Given the description of an element on the screen output the (x, y) to click on. 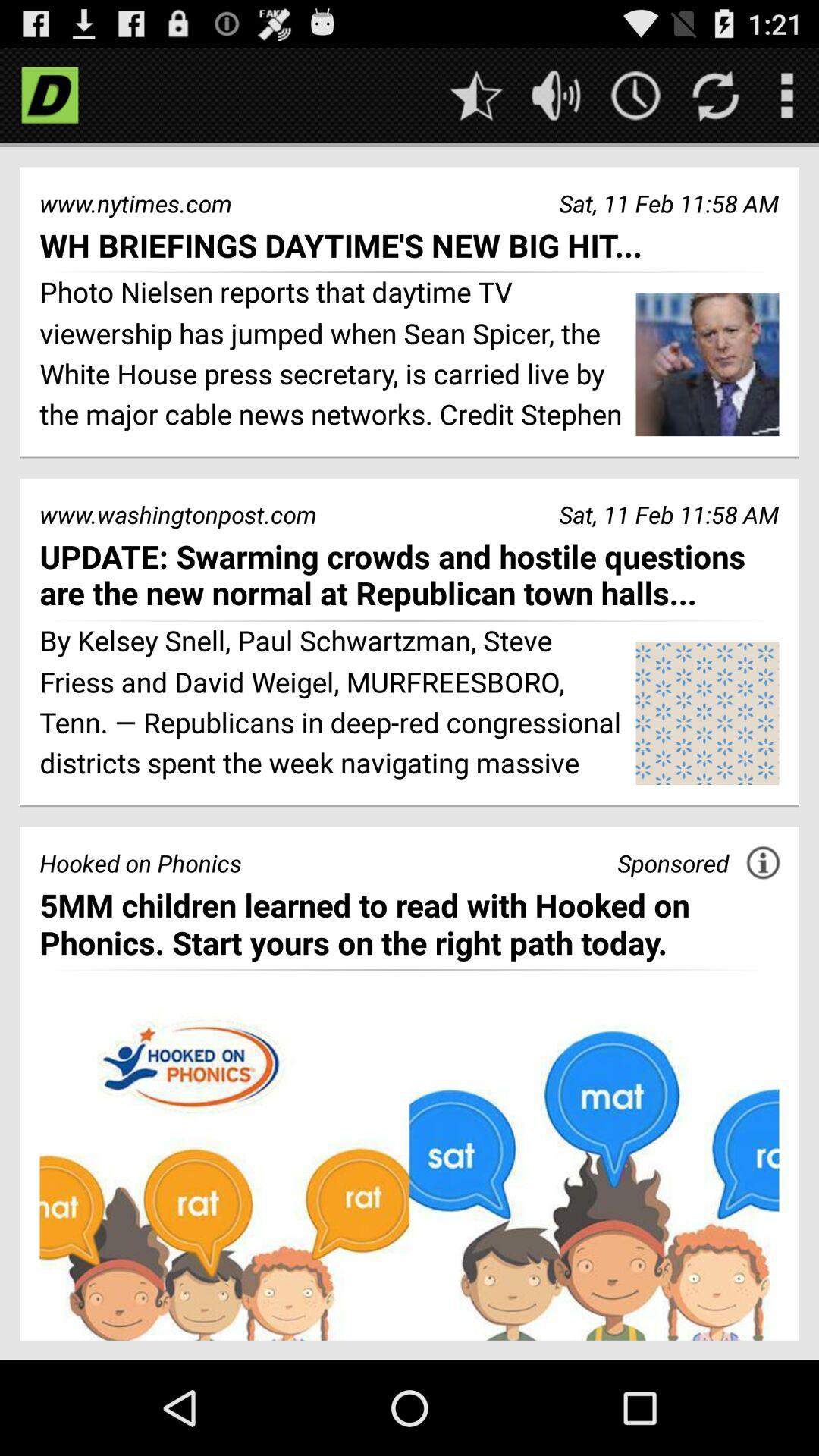
show news audio clips (556, 95)
